Given the description of an element on the screen output the (x, y) to click on. 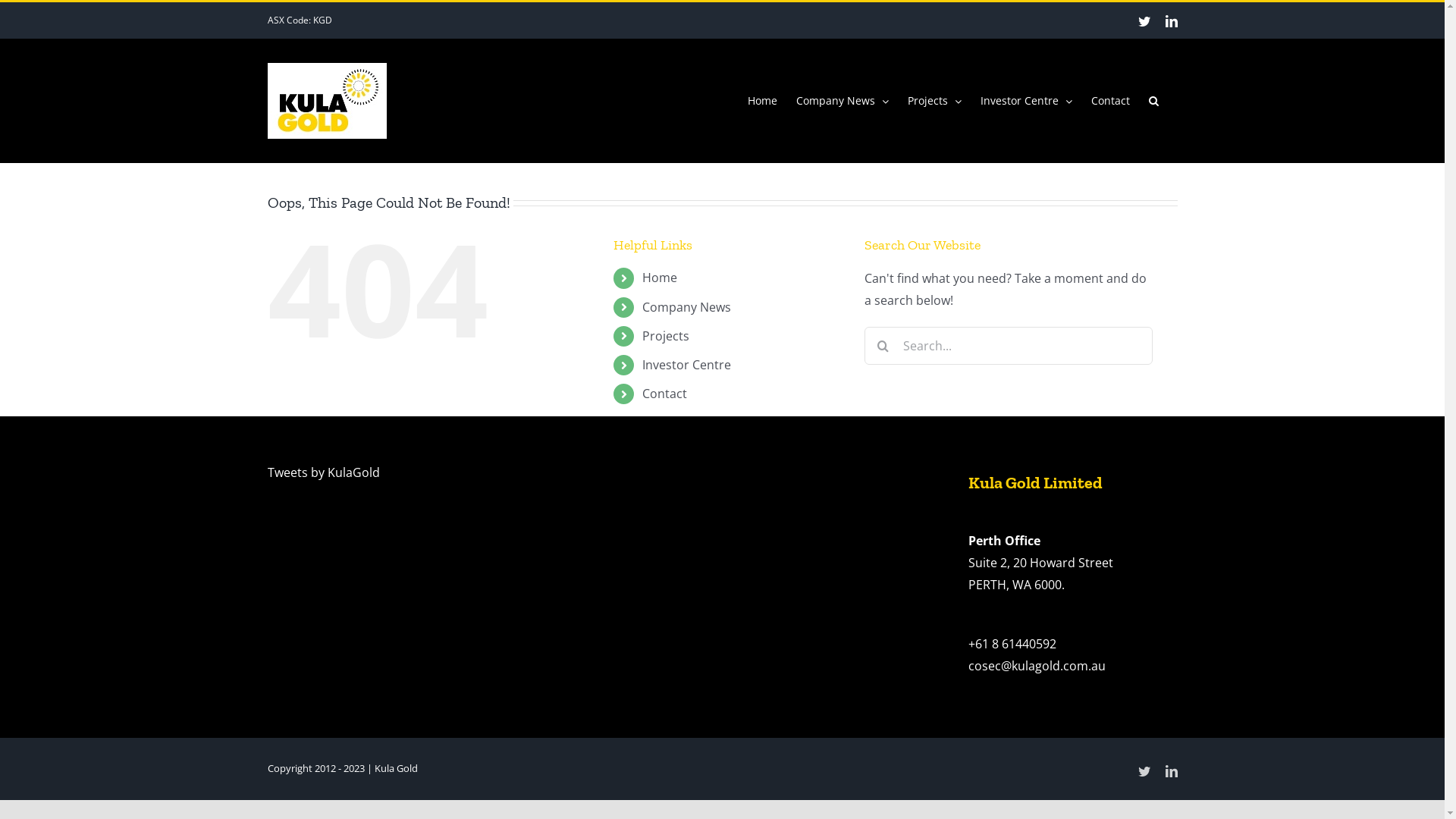
Investor Centre Element type: text (1025, 100)
Twitter Element type: text (1143, 771)
Home Element type: text (659, 277)
Tweets by KulaGold Element type: text (322, 472)
LinkedIn Element type: text (1170, 21)
Investor Centre Element type: text (686, 364)
Search Element type: hover (1152, 100)
Company News Element type: text (842, 100)
+61 8 61440592 Element type: text (1011, 643)
Projects Element type: text (933, 100)
Contact Element type: text (664, 393)
cosec@kulagold.com.au Element type: text (1035, 665)
Home Element type: text (762, 100)
Twitter Element type: text (1143, 21)
Company News Element type: text (686, 306)
LinkedIn Element type: text (1170, 771)
Projects Element type: text (665, 335)
Contact Element type: text (1109, 100)
